Given the description of an element on the screen output the (x, y) to click on. 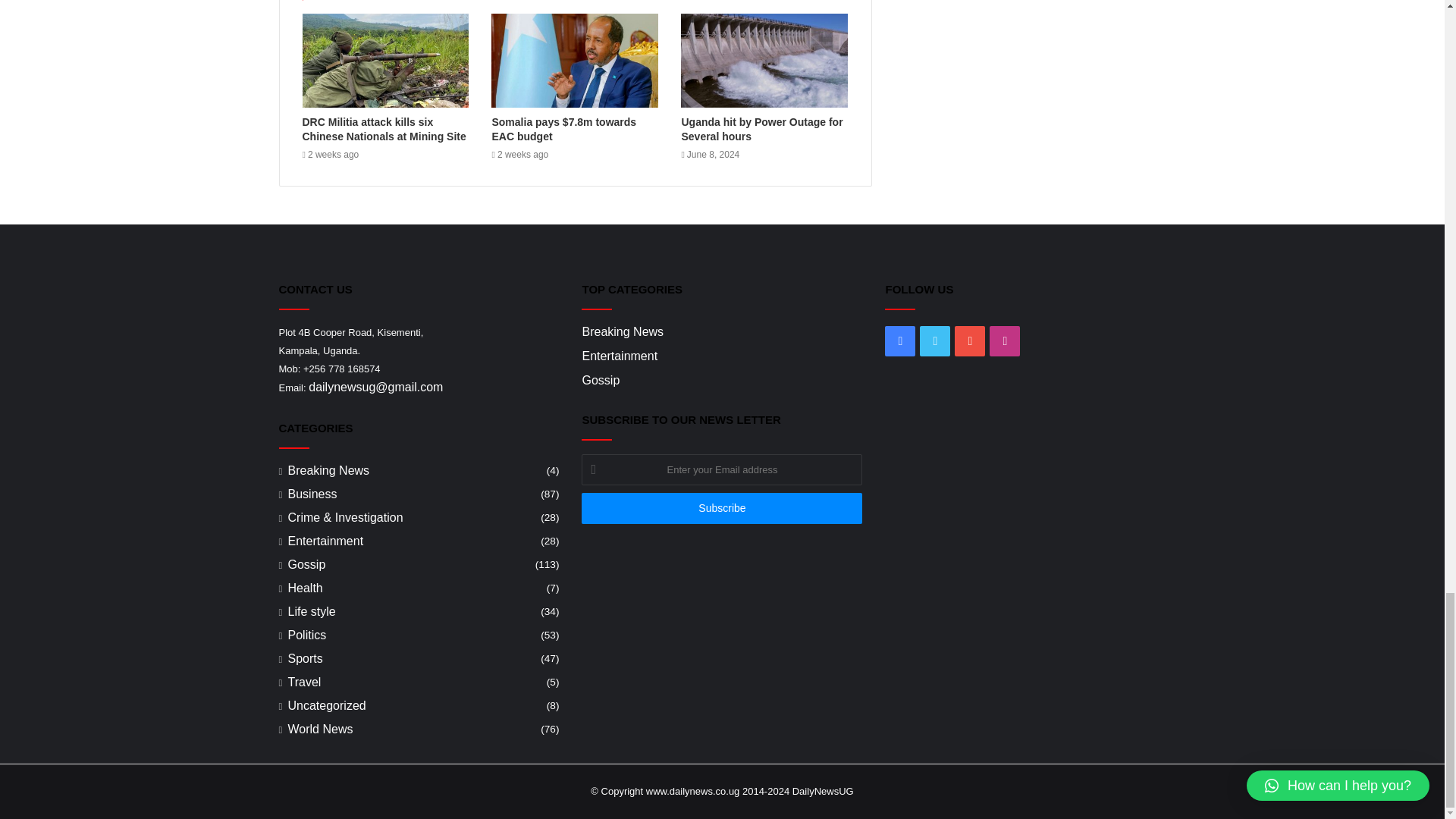
Subscribe (720, 508)
